Given the description of an element on the screen output the (x, y) to click on. 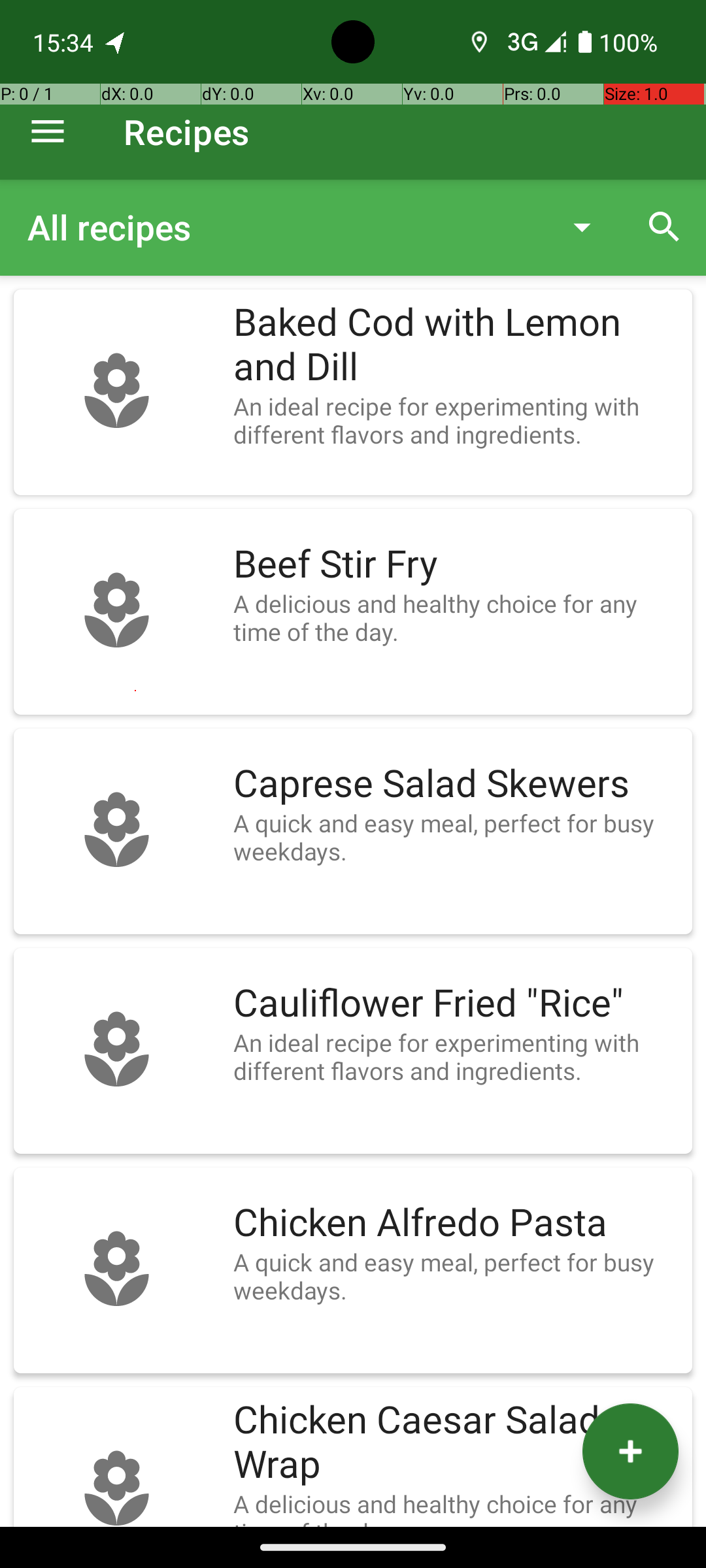
Chicken Caesar Salad Wrap Element type: android.widget.TextView (455, 1442)
